Given the description of an element on the screen output the (x, y) to click on. 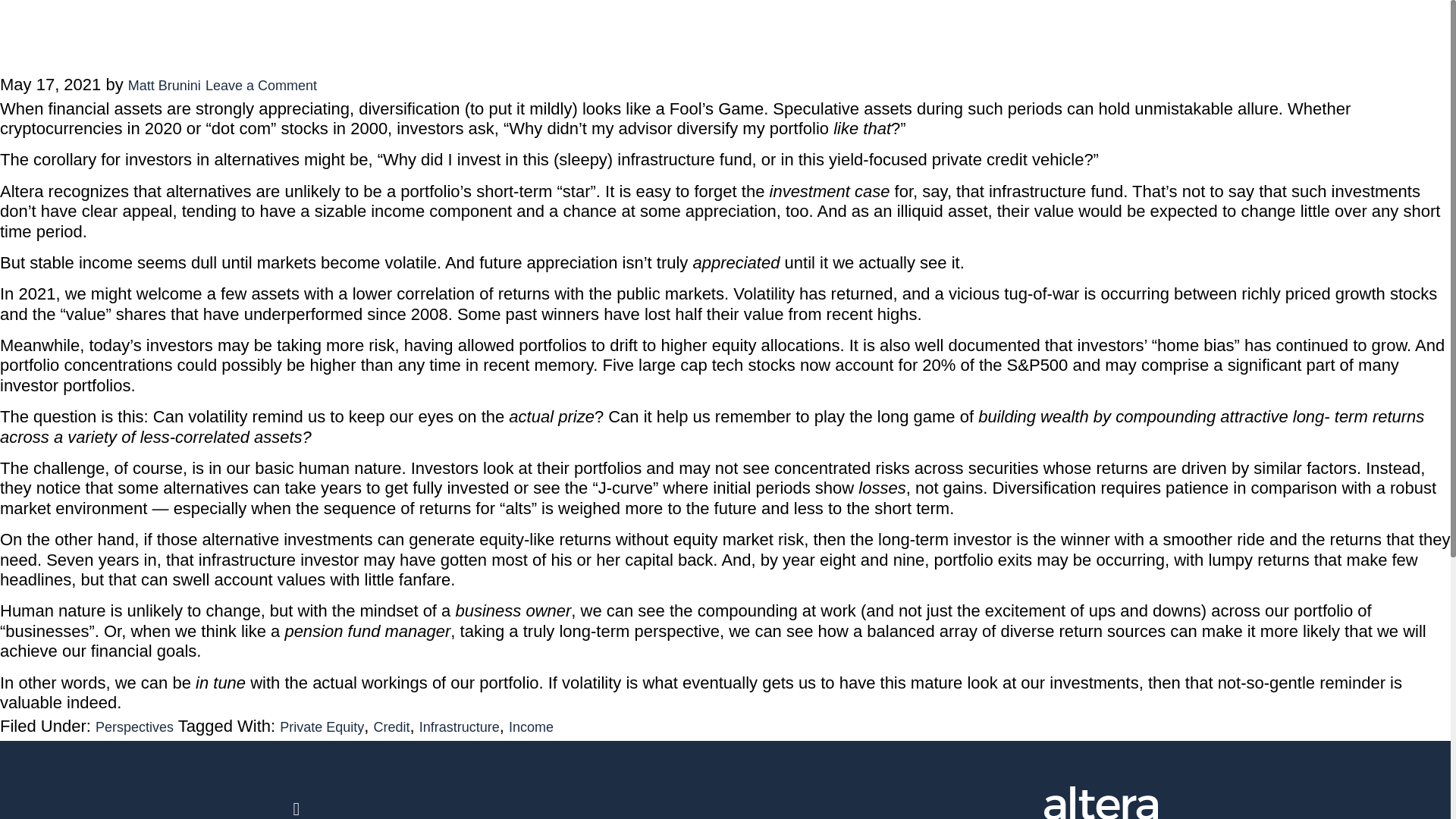
Matt Brunini (164, 85)
Income (530, 726)
Private Equity (321, 726)
Perspectives (134, 726)
Credit (392, 726)
Leave a Comment (261, 85)
Infrastructure (459, 726)
